Given the description of an element on the screen output the (x, y) to click on. 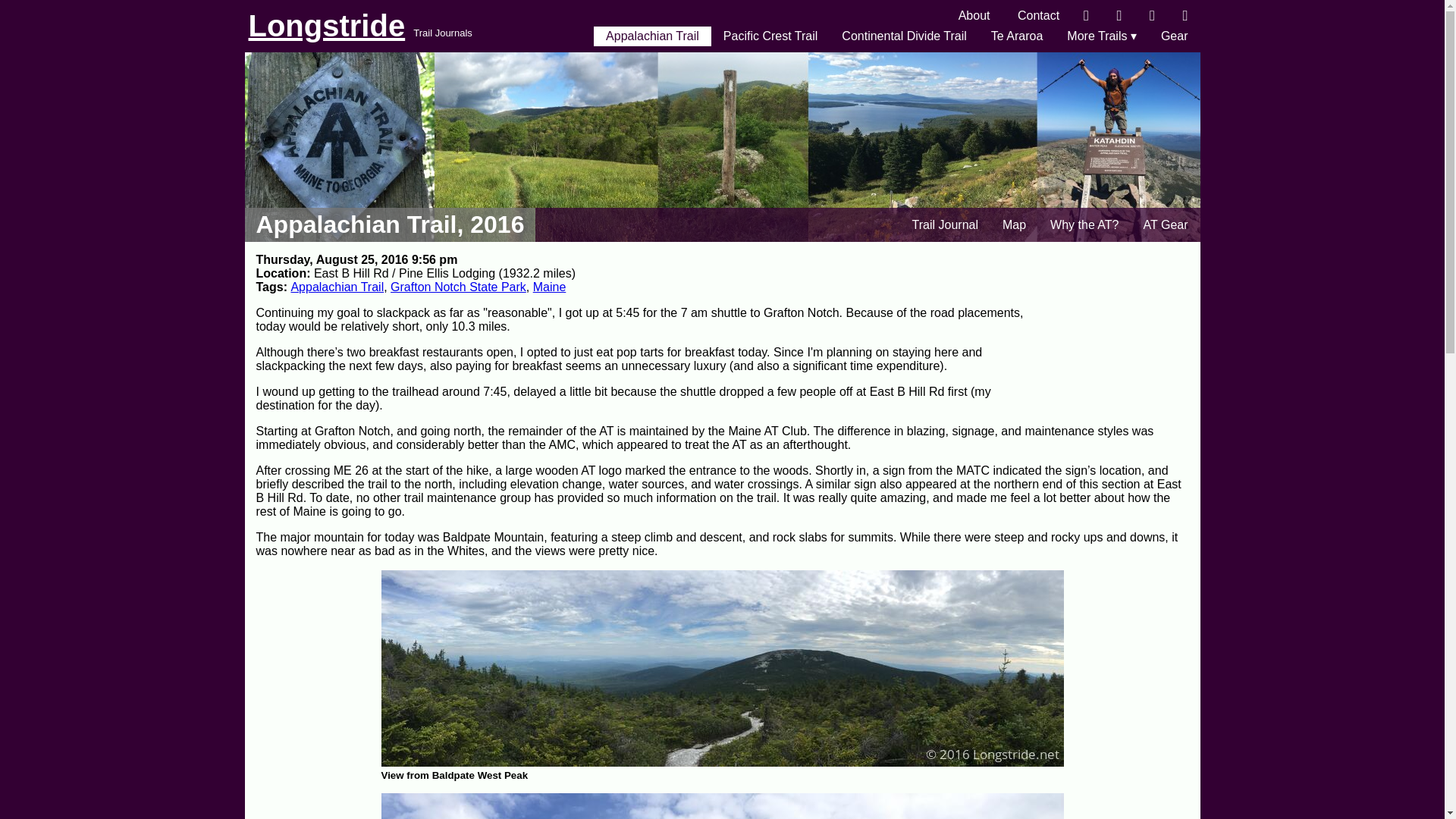
Maine (549, 286)
Grafton Notch State Park (457, 286)
Appalachian Trail (336, 286)
Pacific Crest Trail (770, 35)
Appalachian Trail (652, 35)
Longstride (327, 25)
Appalachian Trail, 2016 (390, 224)
